Given the description of an element on the screen output the (x, y) to click on. 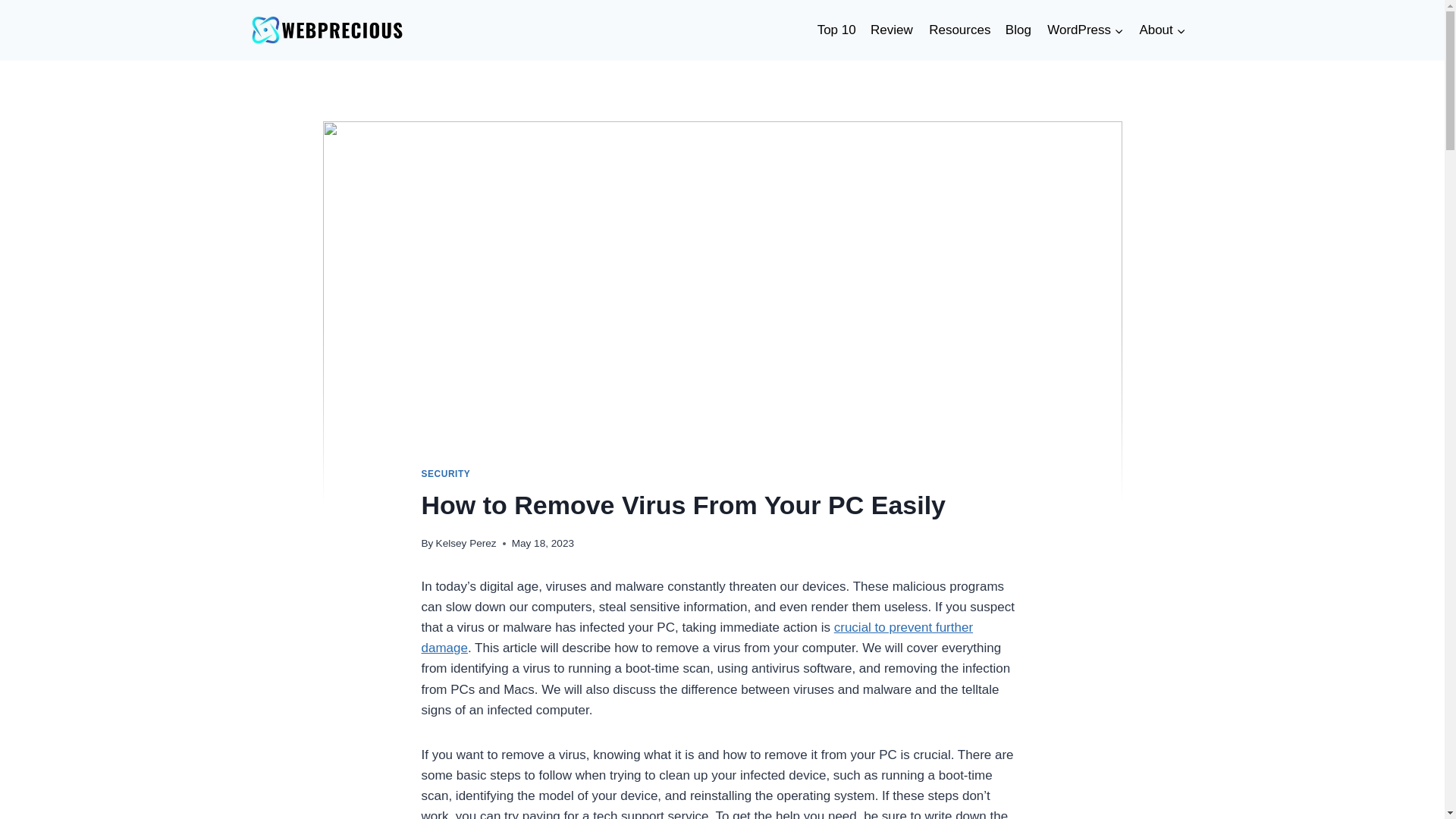
WordPress (1085, 30)
Resources (958, 30)
Top 10 (836, 30)
SECURITY (446, 473)
Kelsey Perez (465, 542)
Blog (1018, 30)
Review (891, 30)
About (1162, 30)
crucial to prevent further damage (698, 637)
